Given the description of an element on the screen output the (x, y) to click on. 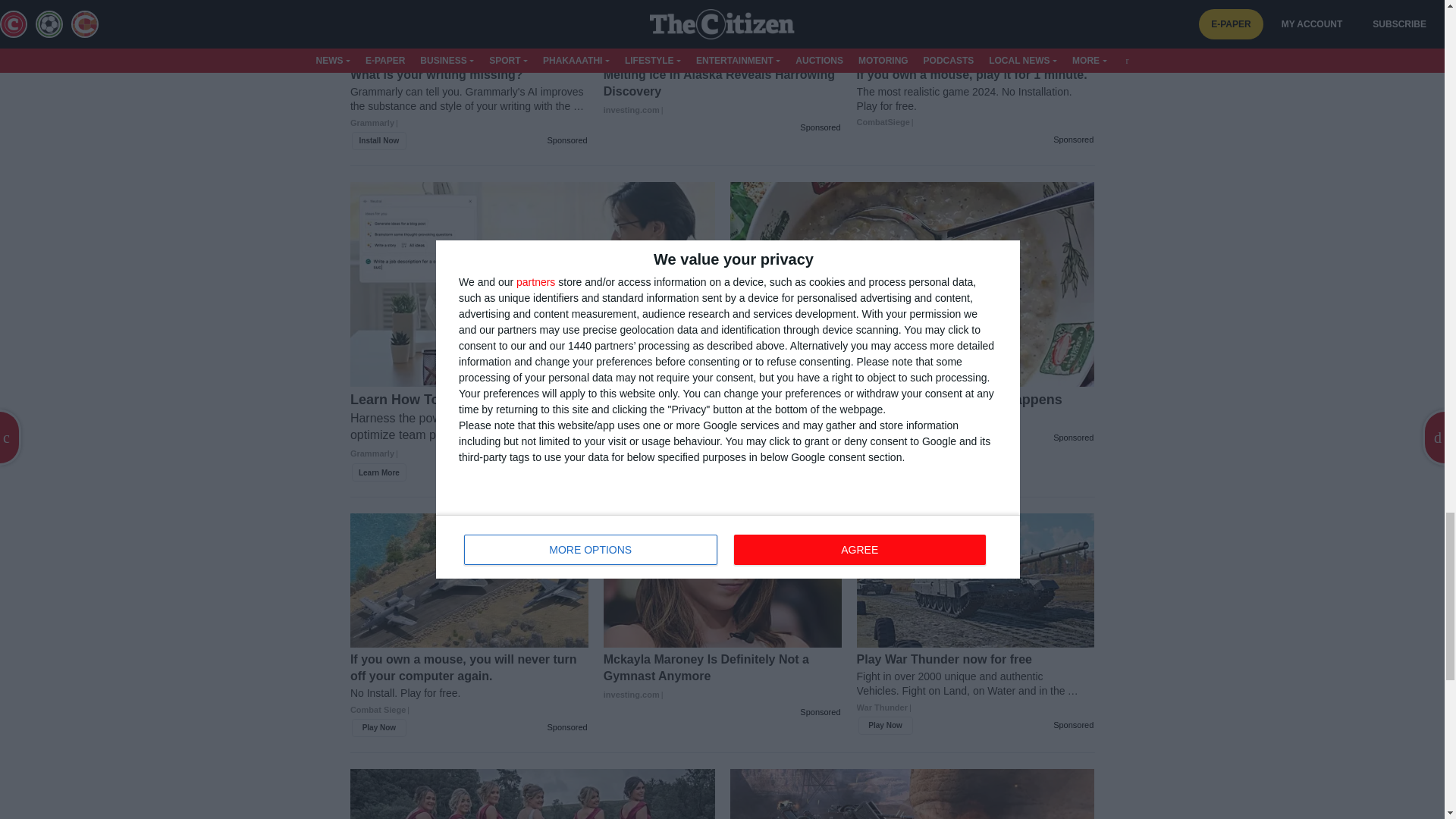
Melting Ice In Alaska Reveals Harrowing Discovery (722, 91)
If You Eat Oatmeal Everyday, This Is What Happens (912, 409)
If you own a mouse, play it for 1 minute. (975, 98)
Mckayla Maroney Is Definitely Not a Gymnast Anymore (722, 676)
What is your writing missing? (469, 105)
